Given the description of an element on the screen output the (x, y) to click on. 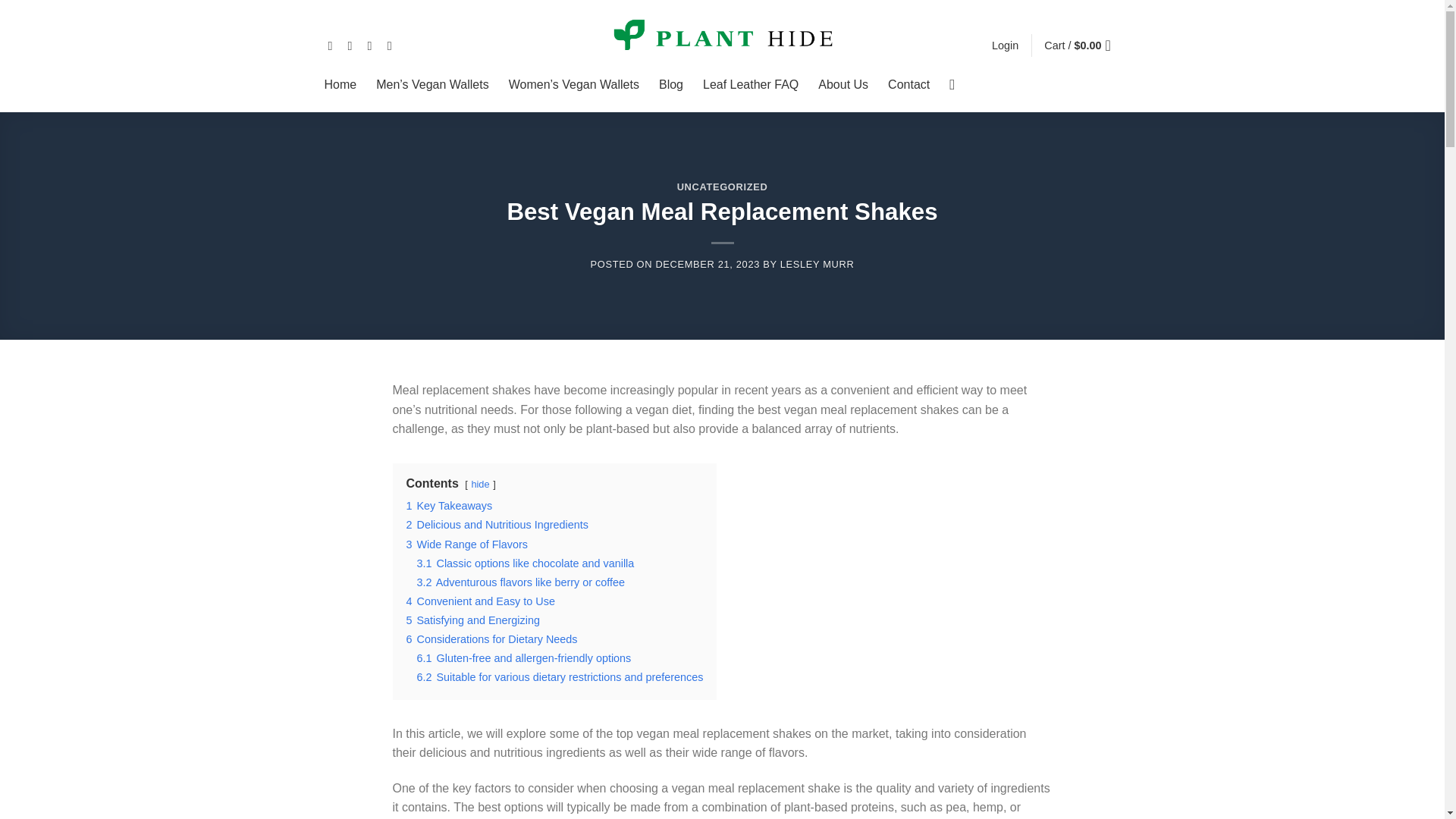
Contact (909, 84)
1 Key Takeaways (449, 505)
Leaf Leather FAQ (750, 84)
hide (479, 483)
Home (340, 84)
3.2 Adventurous flavors like berry or coffee (521, 582)
5 Satisfying and Energizing (473, 620)
3 Wide Range of Flavors (466, 544)
About Us (842, 84)
